Given the description of an element on the screen output the (x, y) to click on. 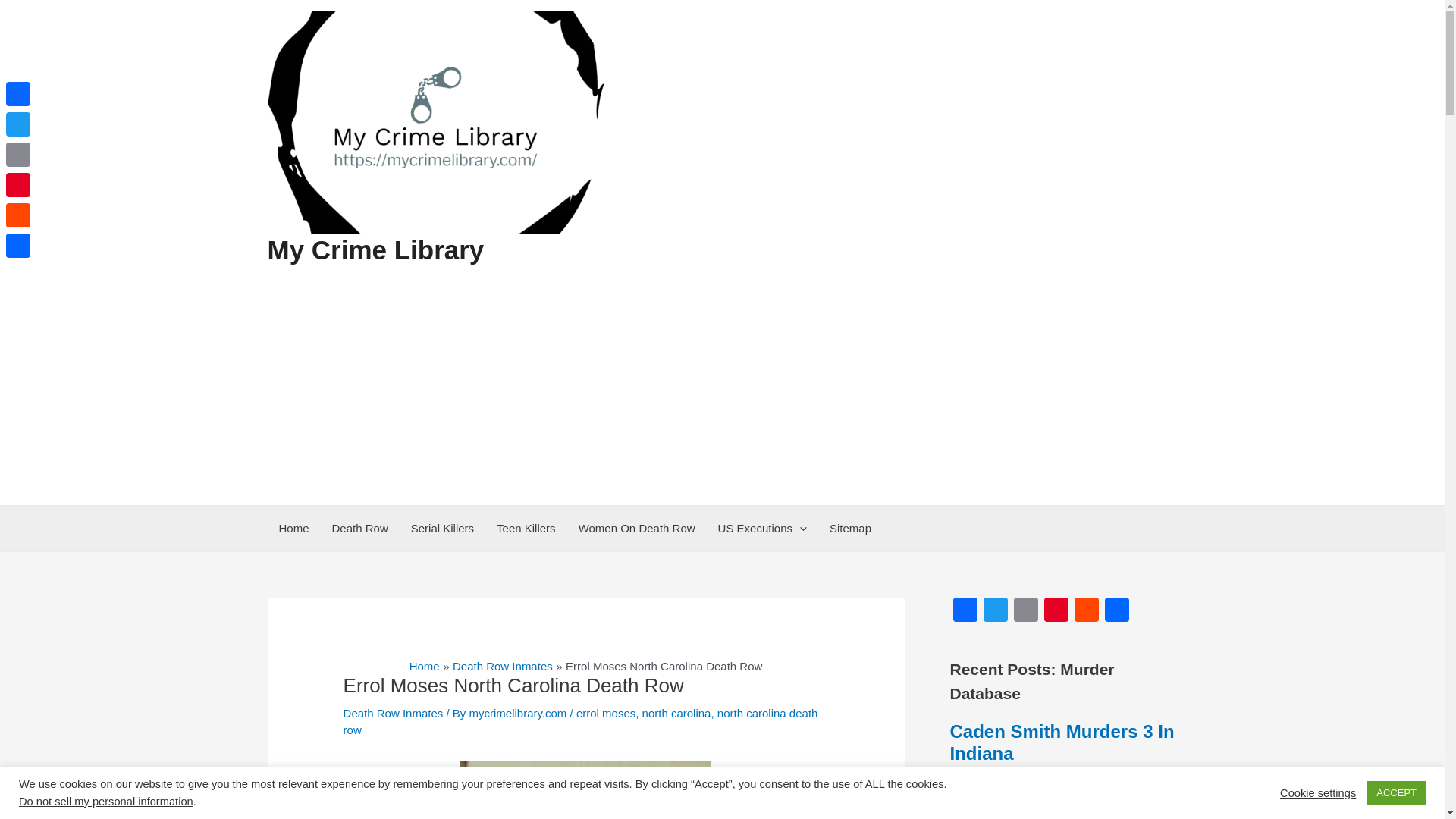
errol moses (605, 712)
errol moses north carolina death row - My Crime Library (585, 790)
Home (424, 666)
Death Row (359, 528)
Women On Death Row (636, 528)
Home (293, 528)
north carolina (676, 712)
Death Row Inmates (502, 666)
Death Row Inmates (393, 712)
View all posts by mycrimelibrary.com (518, 712)
